Given the description of an element on the screen output the (x, y) to click on. 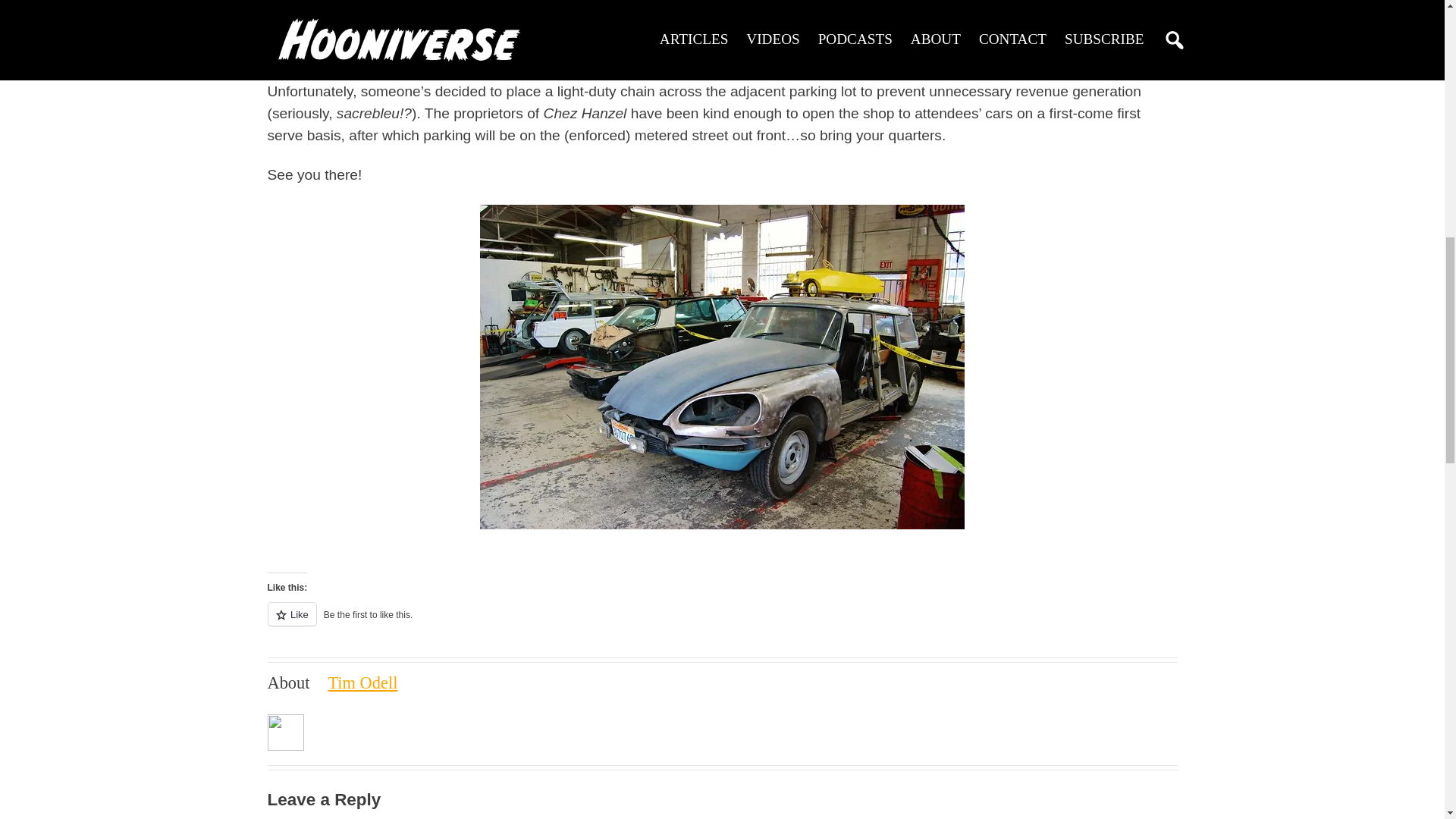
456 23rd St in Charming Oakland (631, 50)
Tim Odell (362, 682)
Hanzel Auto Body Works (631, 50)
Like or Reblog (721, 622)
